Given the description of an element on the screen output the (x, y) to click on. 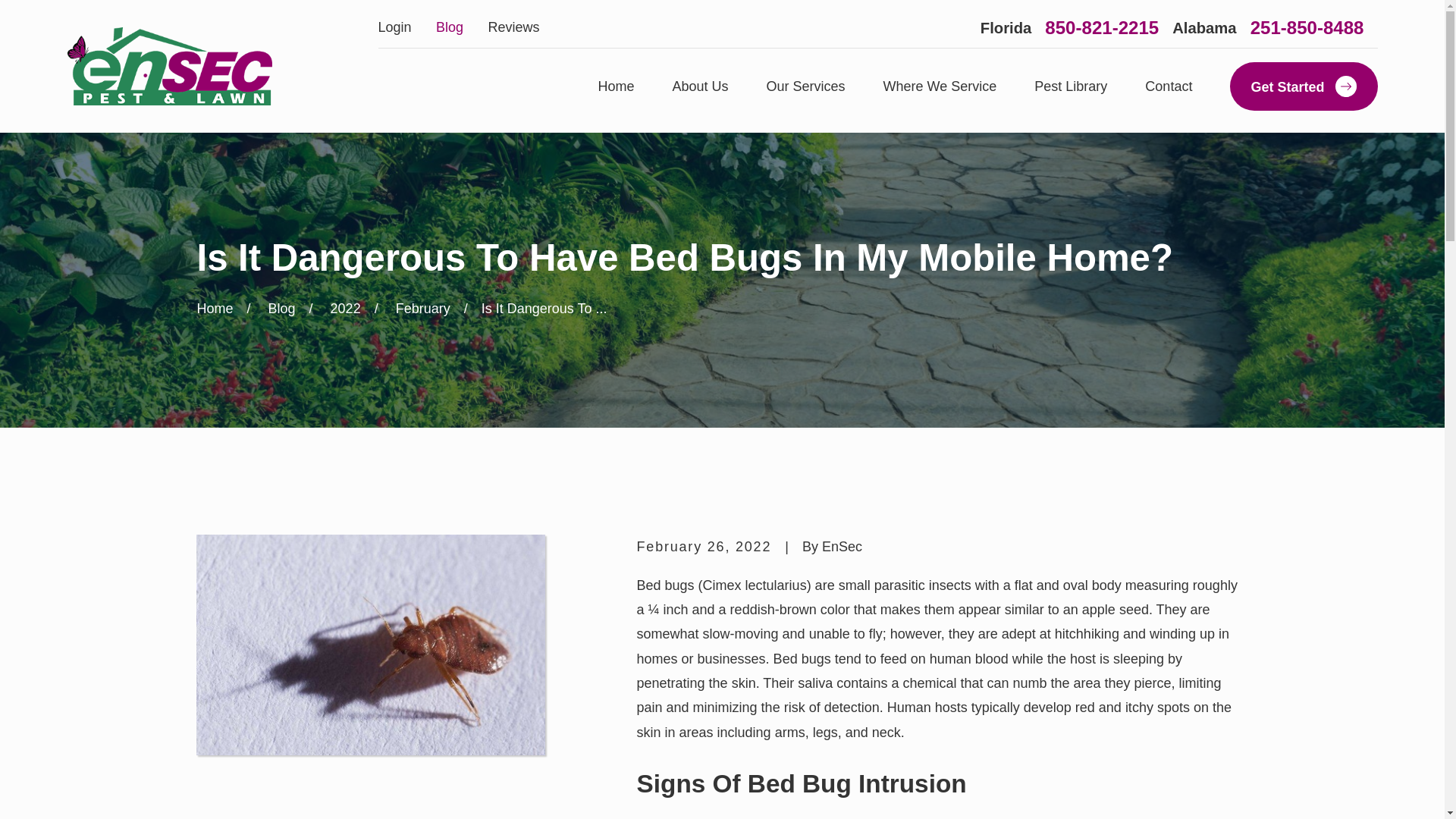
Pest Library (1069, 86)
Where We Service (940, 86)
EnSec (168, 66)
251-850-8488 (1307, 27)
Go Home (214, 308)
About Us (700, 86)
850-821-2215 (1101, 27)
Our Services (806, 86)
Contact (1168, 86)
Home (168, 65)
